Given the description of an element on the screen output the (x, y) to click on. 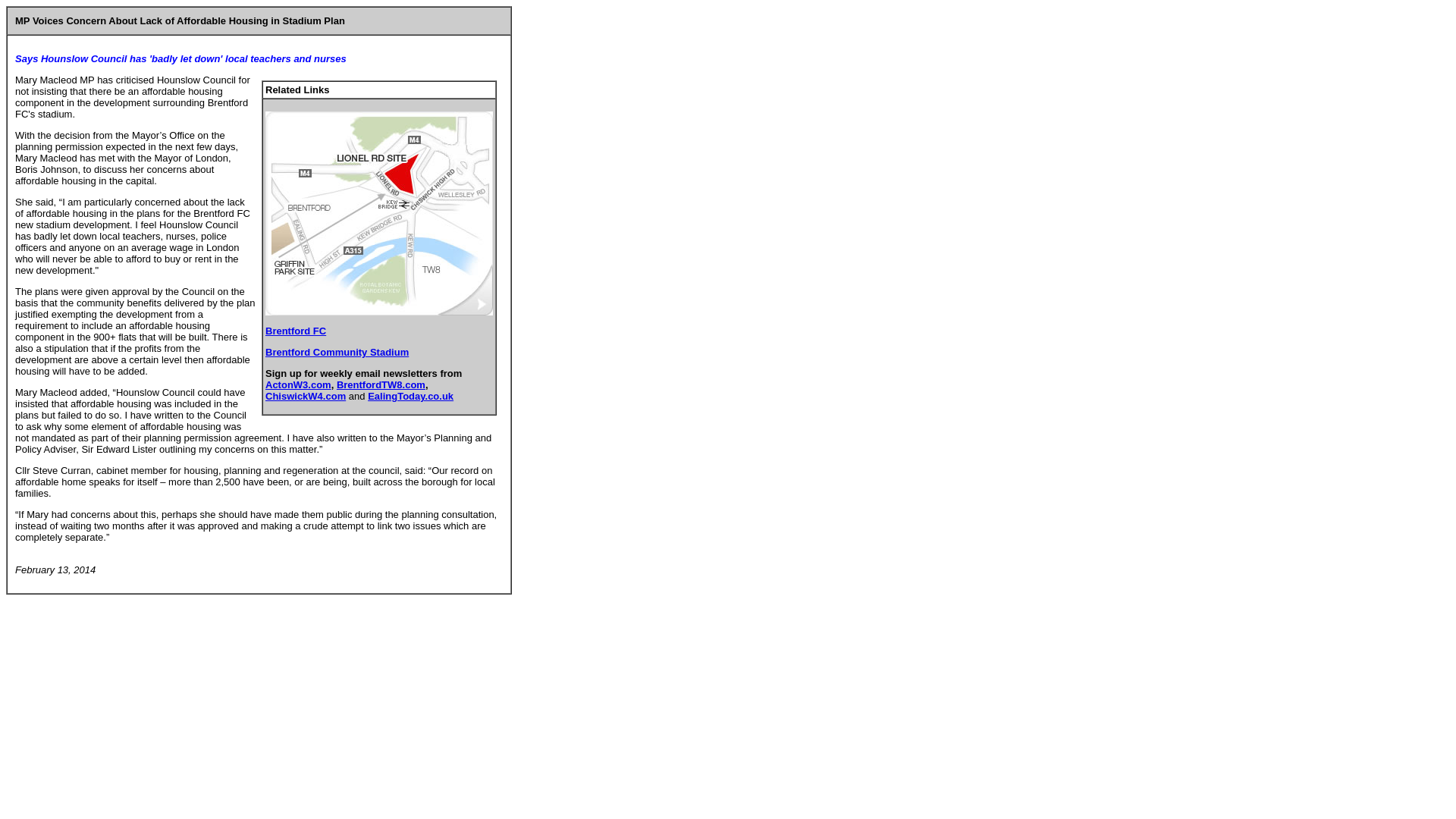
EalingToday.co.uk (410, 396)
ChiswickW4.com (305, 396)
BrentfordTW8.com (380, 384)
Brentford Community Stadium (336, 351)
Brentford FC (295, 330)
ActonW3.com (297, 384)
